Given the description of an element on the screen output the (x, y) to click on. 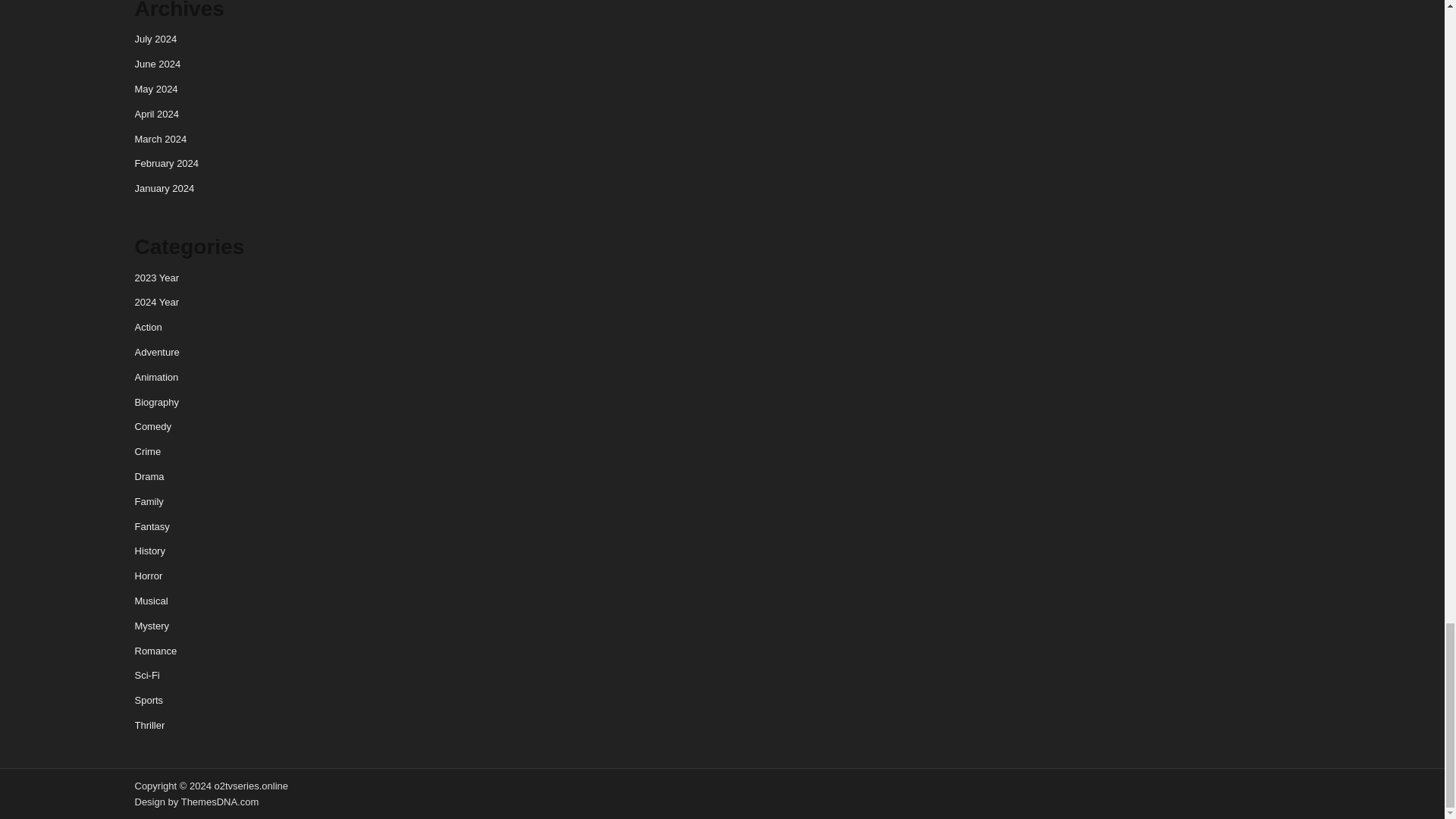
June 2024 (157, 63)
May 2024 (156, 89)
July 2024 (156, 39)
